Given the description of an element on the screen output the (x, y) to click on. 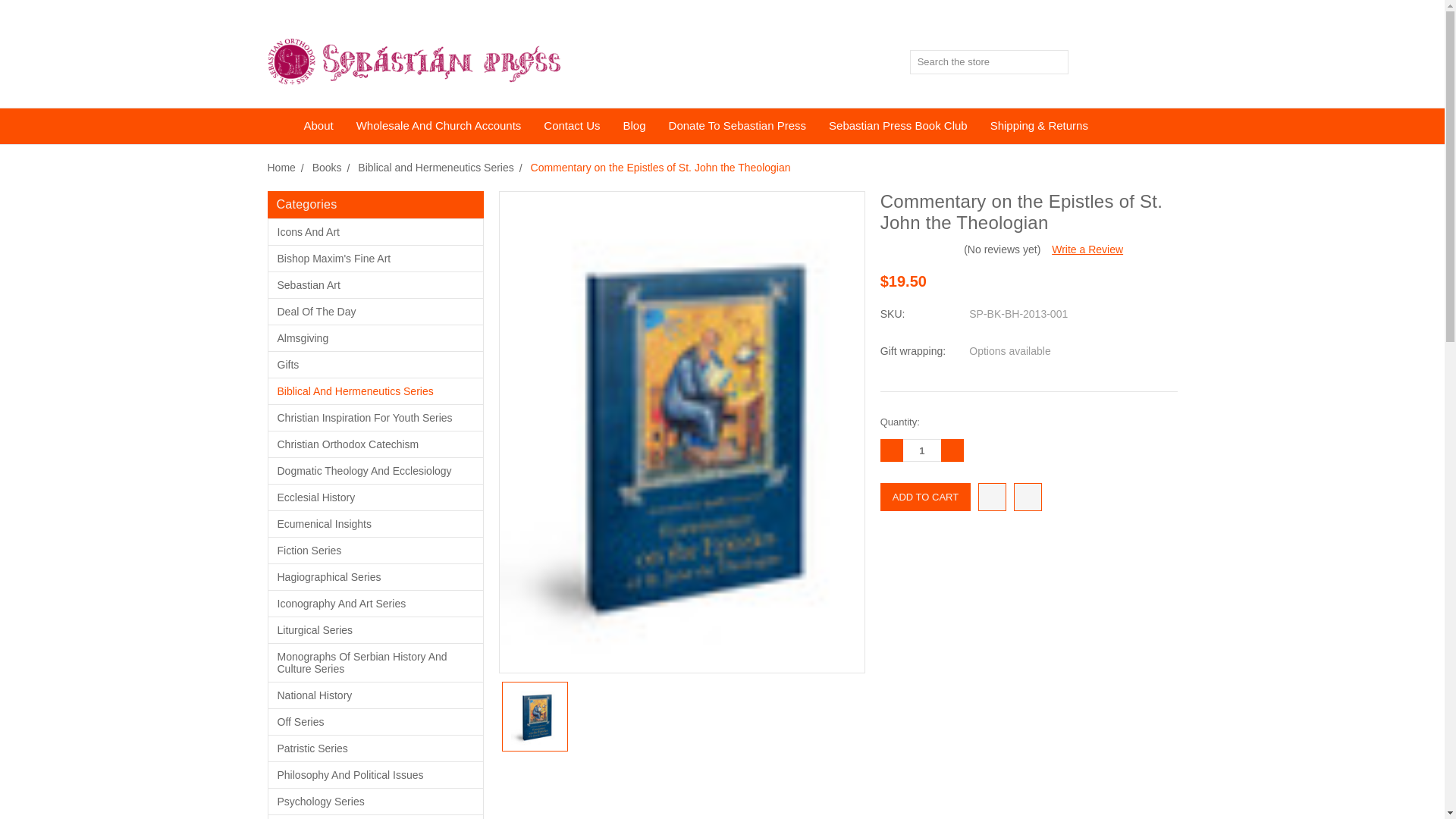
Search (1056, 61)
St. Sebastian Orthodox Press (413, 61)
Commentary on the Epistles of St. John the Theologian (535, 716)
Add to Cart (925, 497)
Search (1056, 61)
1 (921, 449)
Compare (1126, 62)
